Given the description of an element on the screen output the (x, y) to click on. 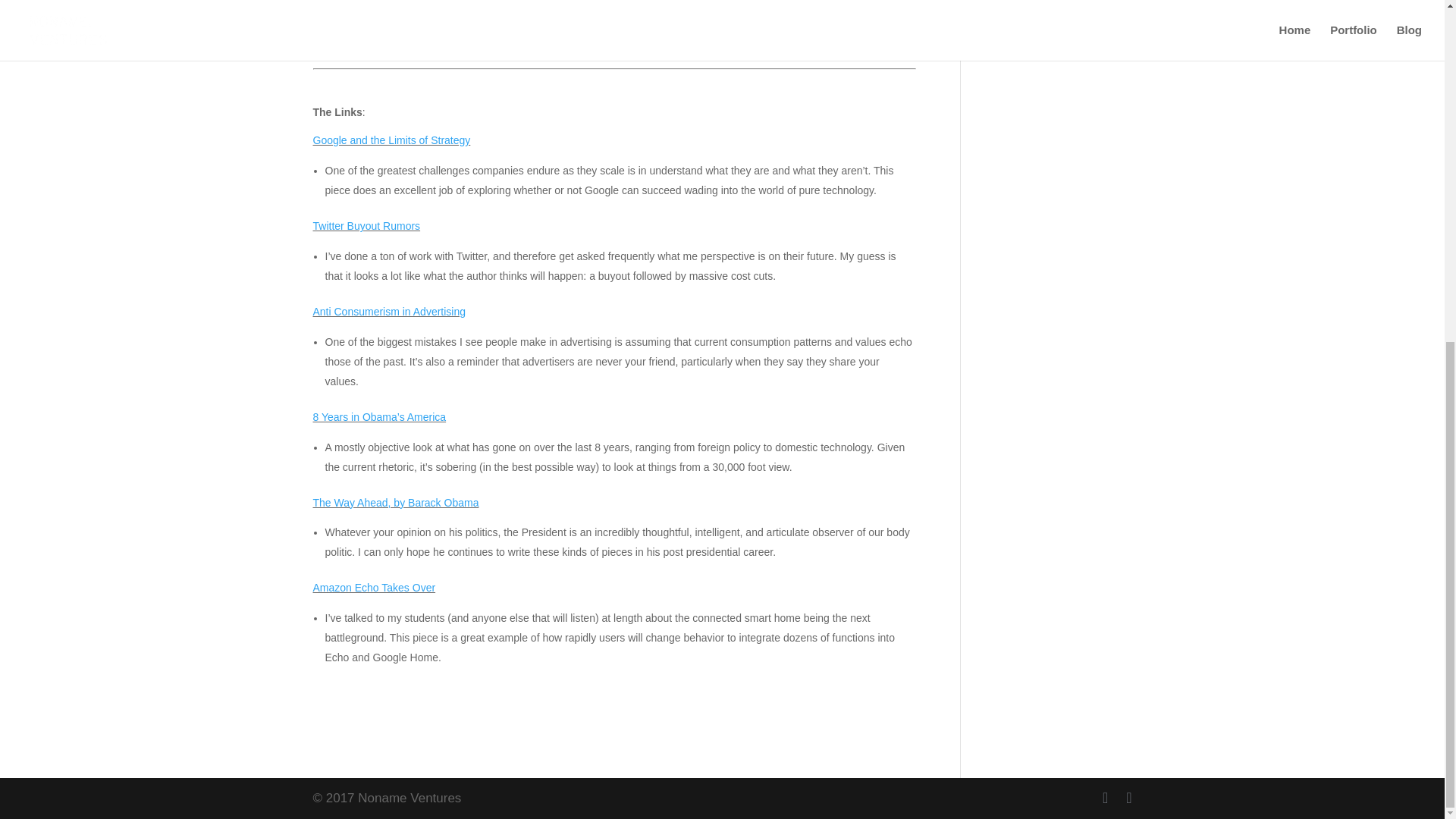
Twitter Buyout Rumors (366, 225)
Amazon Echo Takes Over (374, 587)
Anti Consumerism in Advertising (389, 311)
The Way Ahead, by Barack Obama (396, 502)
Google and the Limits of Strategy (391, 140)
